Given the description of an element on the screen output the (x, y) to click on. 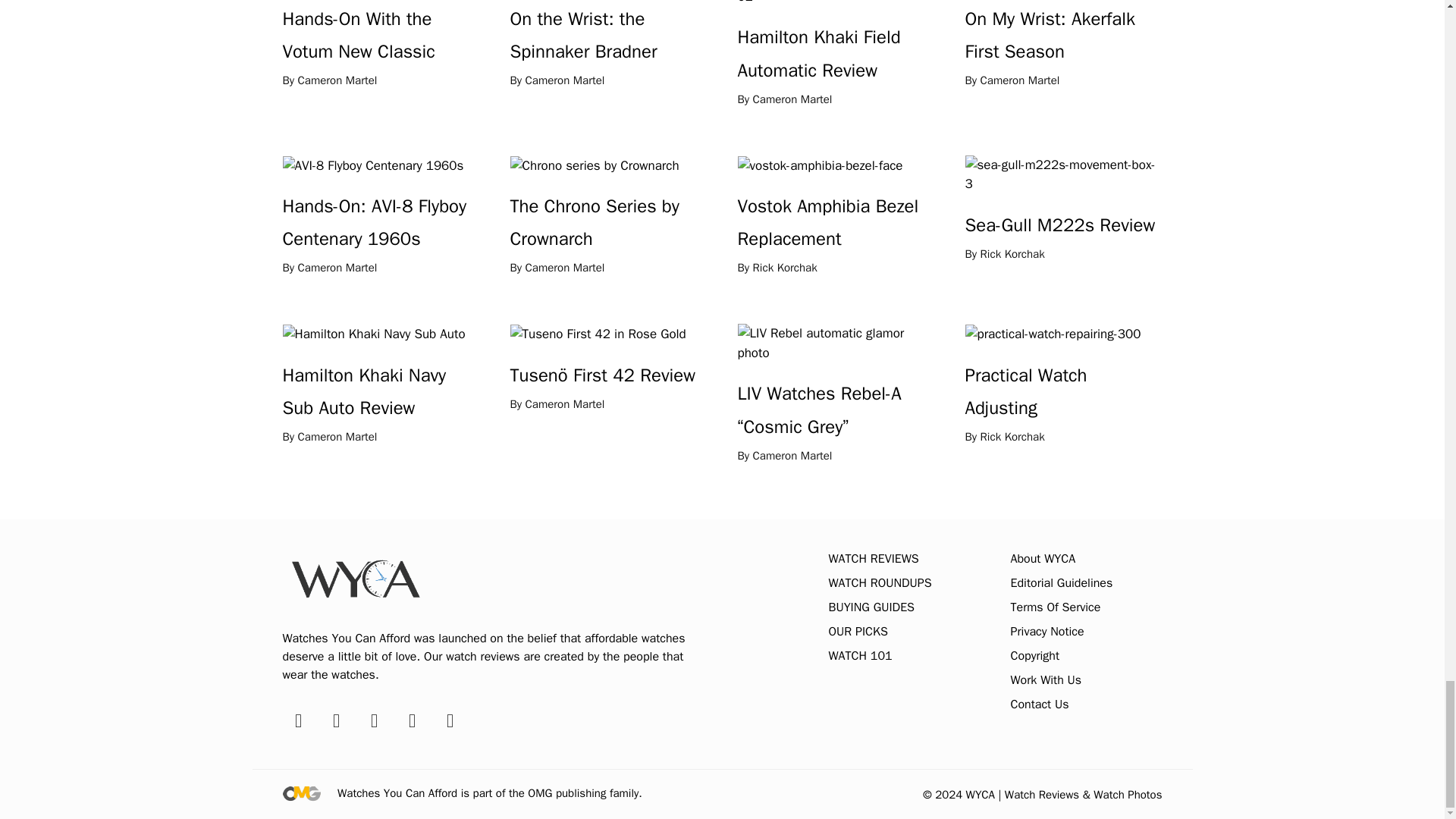
Twitter (411, 721)
Pinterest (449, 721)
Facebook (297, 721)
YouTube (373, 721)
Instagram (335, 721)
